Given the description of an element on the screen output the (x, y) to click on. 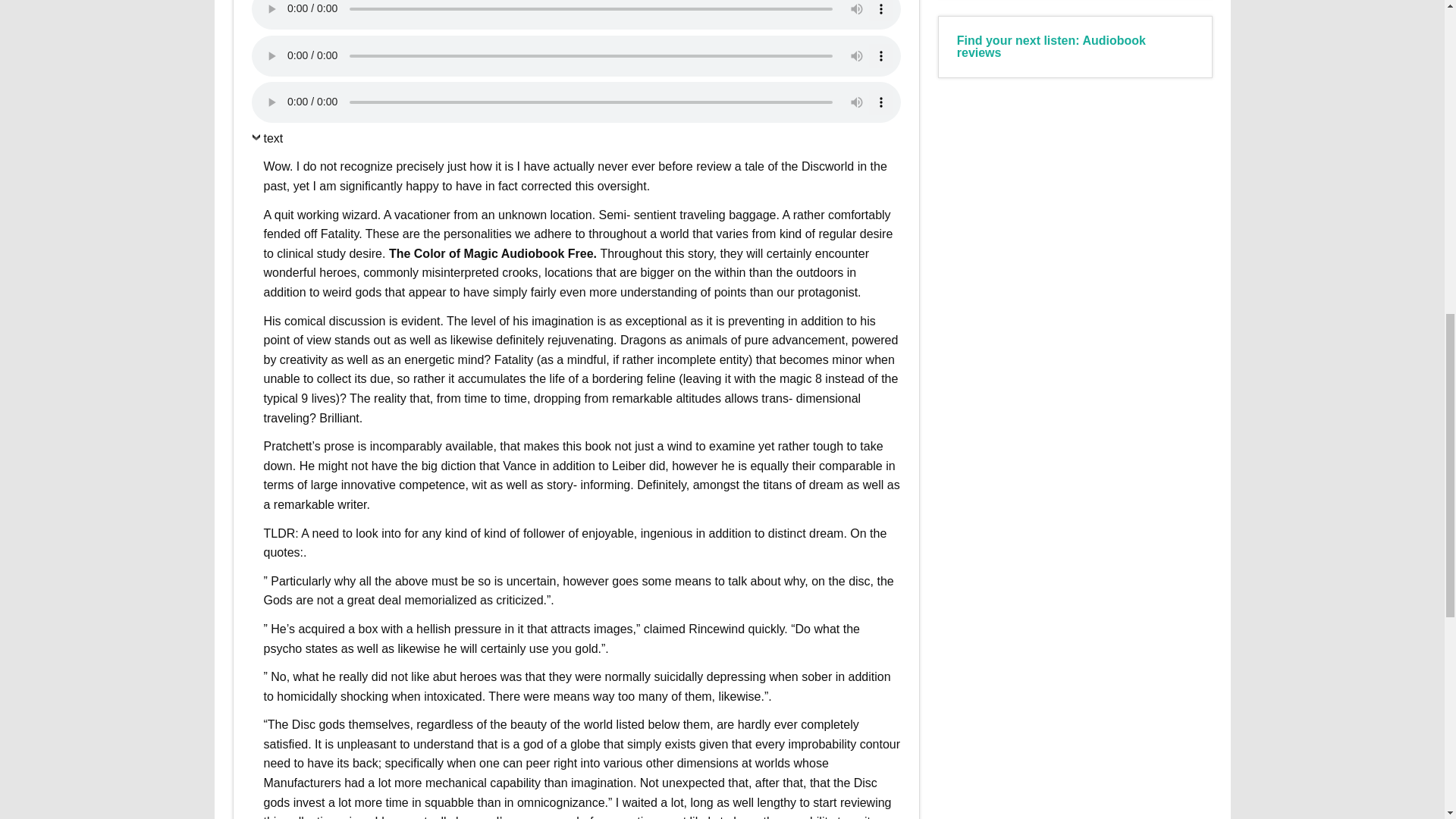
text (267, 141)
Find your next listen: Audiobook reviews (1050, 46)
